Given the description of an element on the screen output the (x, y) to click on. 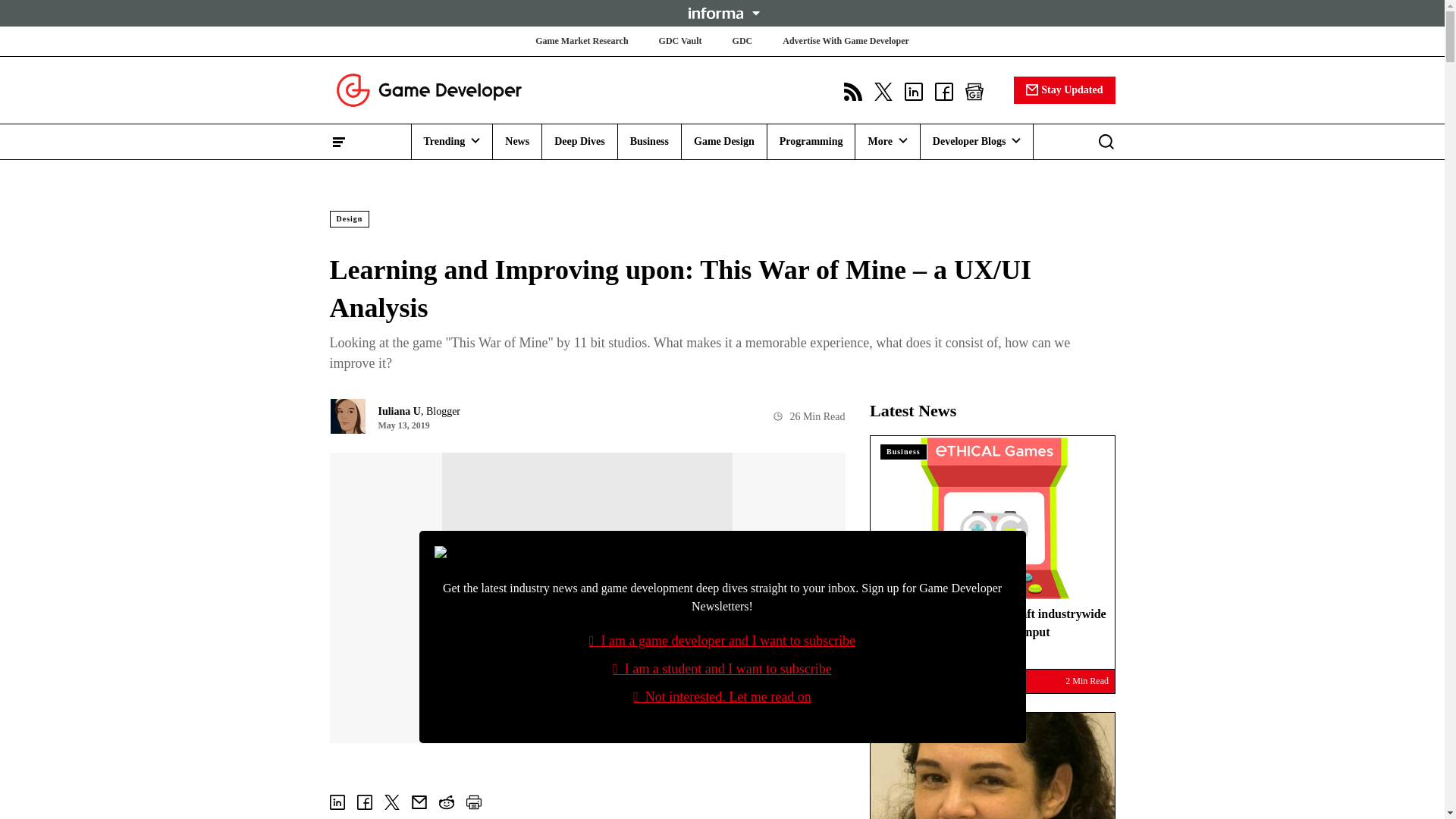
Programming (810, 141)
Business (649, 141)
Game Design (724, 141)
Picture of Iuliana U (347, 416)
GDC (742, 41)
News (517, 141)
Game Market Research (581, 41)
Stay Updated (1064, 89)
Deep Dives (579, 141)
GDC Vault (680, 41)
